Given the description of an element on the screen output the (x, y) to click on. 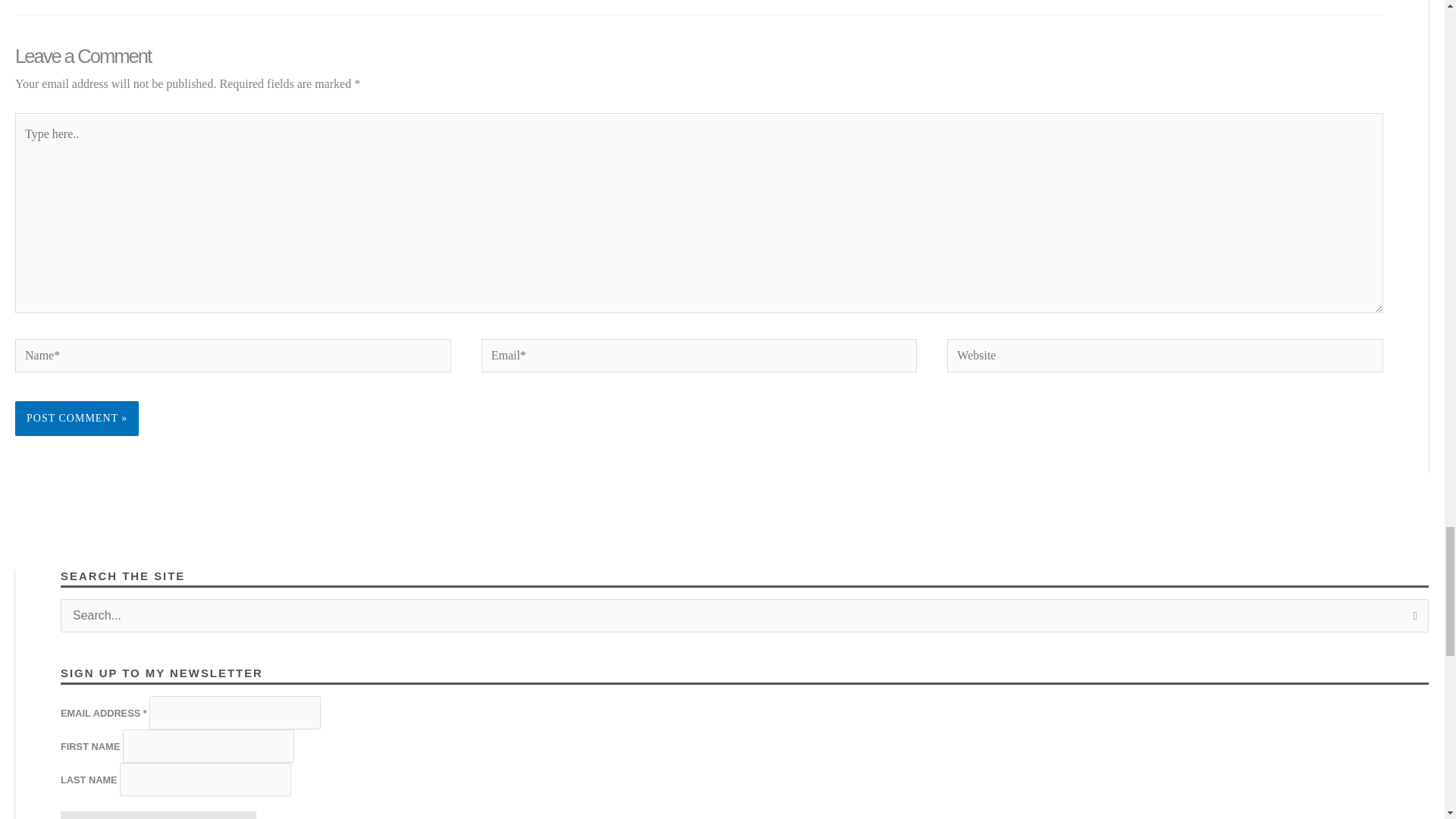
Click to Subscribe! (158, 815)
Click to Subscribe! (158, 815)
